Given the description of an element on the screen output the (x, y) to click on. 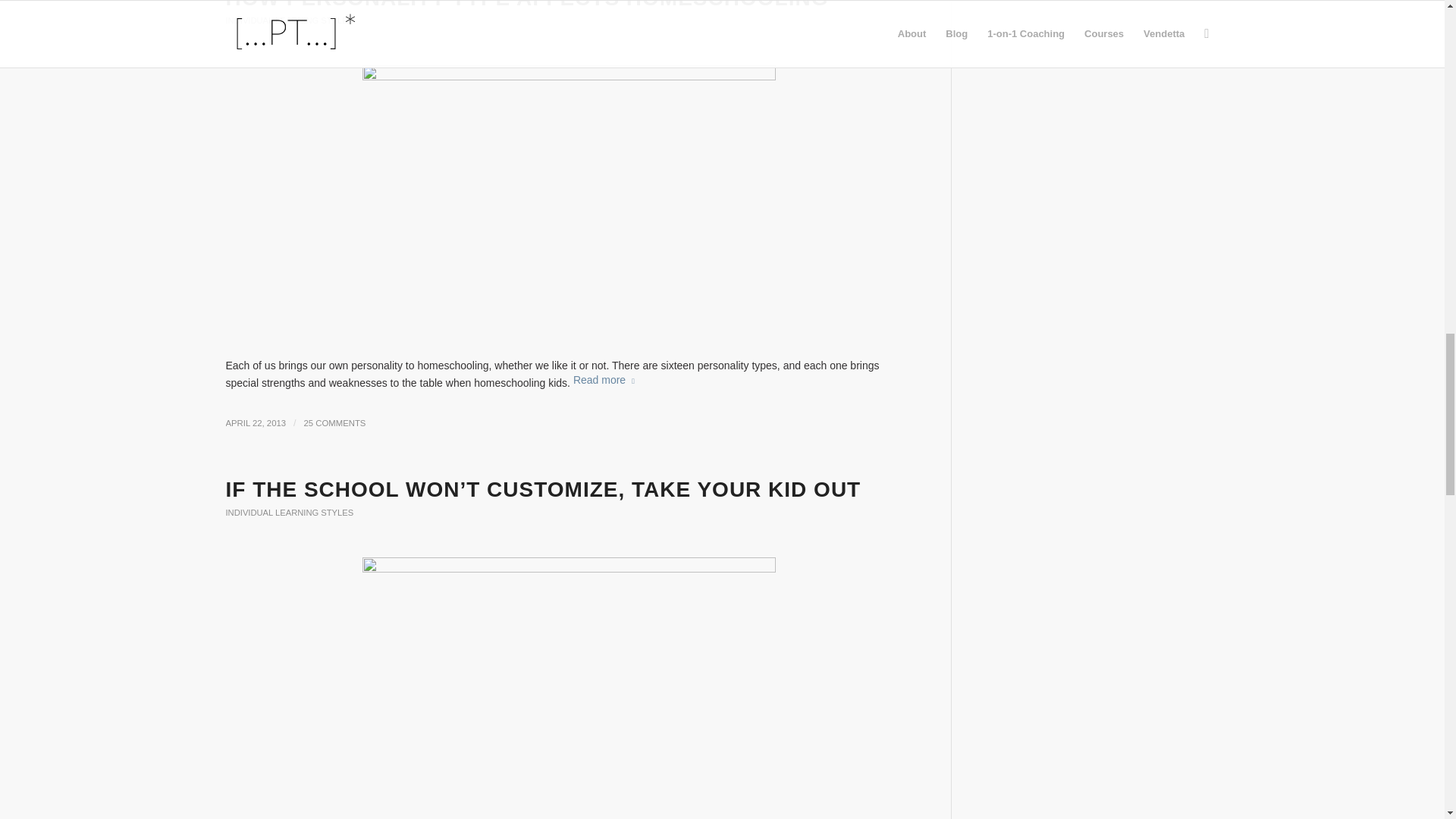
INDIVIDUAL LEARNING STYLES (289, 20)
Read more (606, 379)
HOW PERSONALITY TYPE AFFECTS HOMESCHOOLING (526, 4)
INDIVIDUAL LEARNING STYLES (289, 511)
Permanent Link: How personality type affects homeschooling (526, 4)
25 COMMENTS (335, 422)
